Given the description of an element on the screen output the (x, y) to click on. 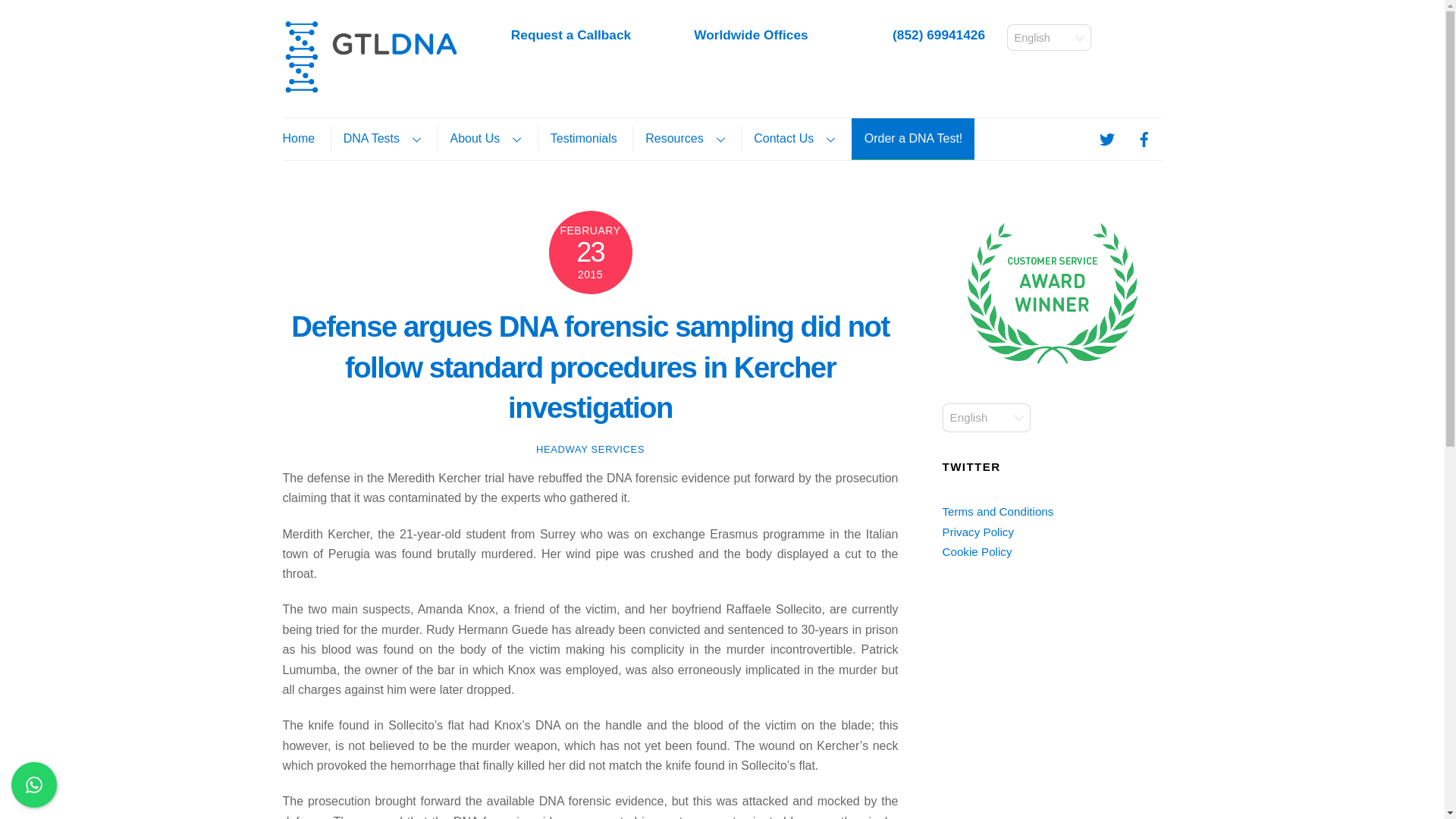
DNA Tests (381, 138)
About Us (485, 138)
gtldna-logo-dark-CROPPED (370, 56)
GTLDNA HK (370, 86)
Home (304, 138)
